Given the description of an element on the screen output the (x, y) to click on. 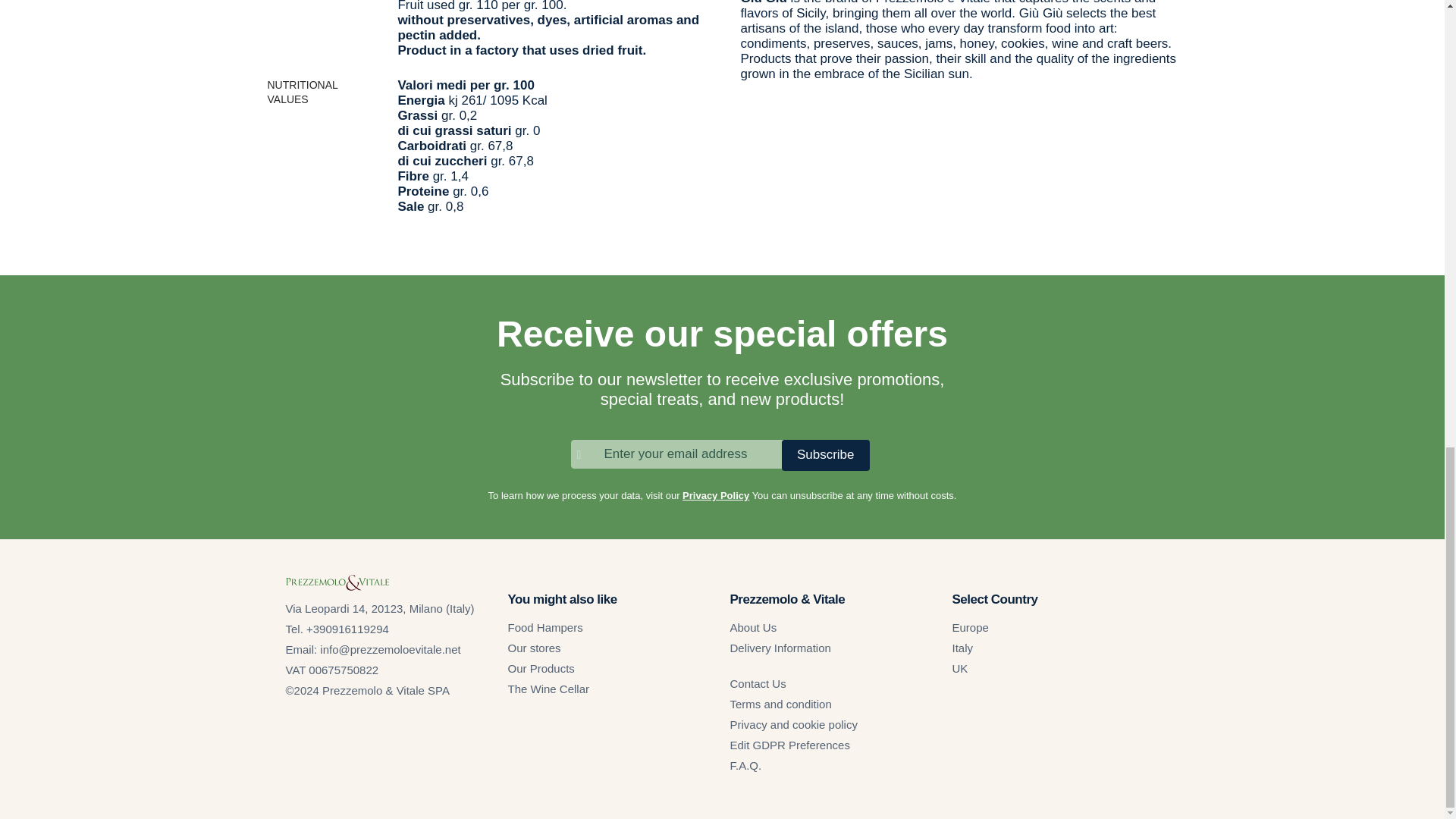
Food Hampers (545, 626)
Delivery Information (779, 647)
About us (752, 626)
The Wine Cellar (548, 688)
Our Products (541, 667)
Subscribe (825, 454)
